Given the description of an element on the screen output the (x, y) to click on. 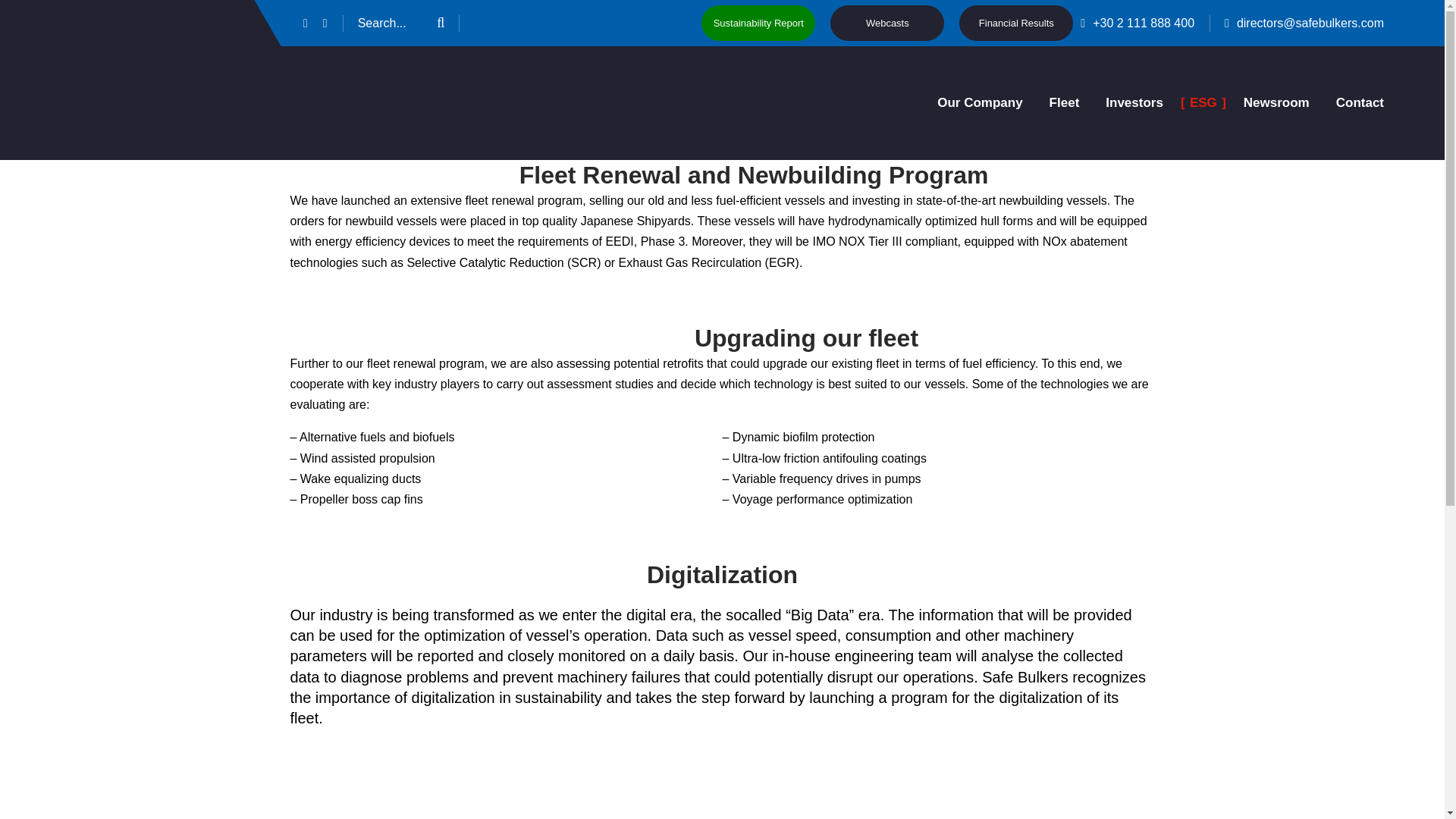
Our Company (979, 103)
Fleet (1064, 103)
Financial Results (1016, 22)
Our Company (979, 103)
Sustainability Report (758, 22)
Investors (1134, 103)
Webcasts (886, 22)
